Given the description of an element on the screen output the (x, y) to click on. 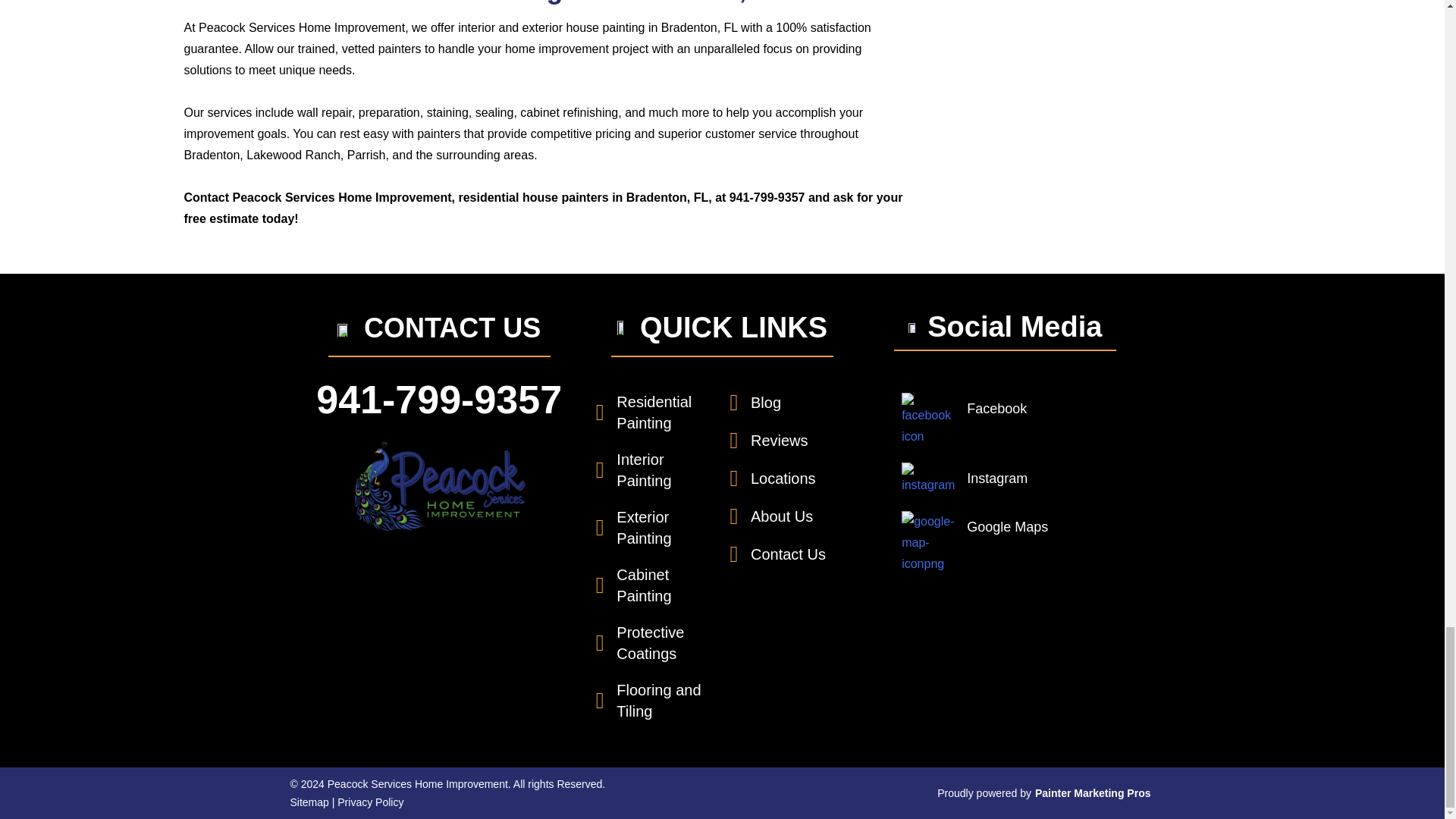
facebook icon (928, 420)
instagram (928, 479)
